Given the description of an element on the screen output the (x, y) to click on. 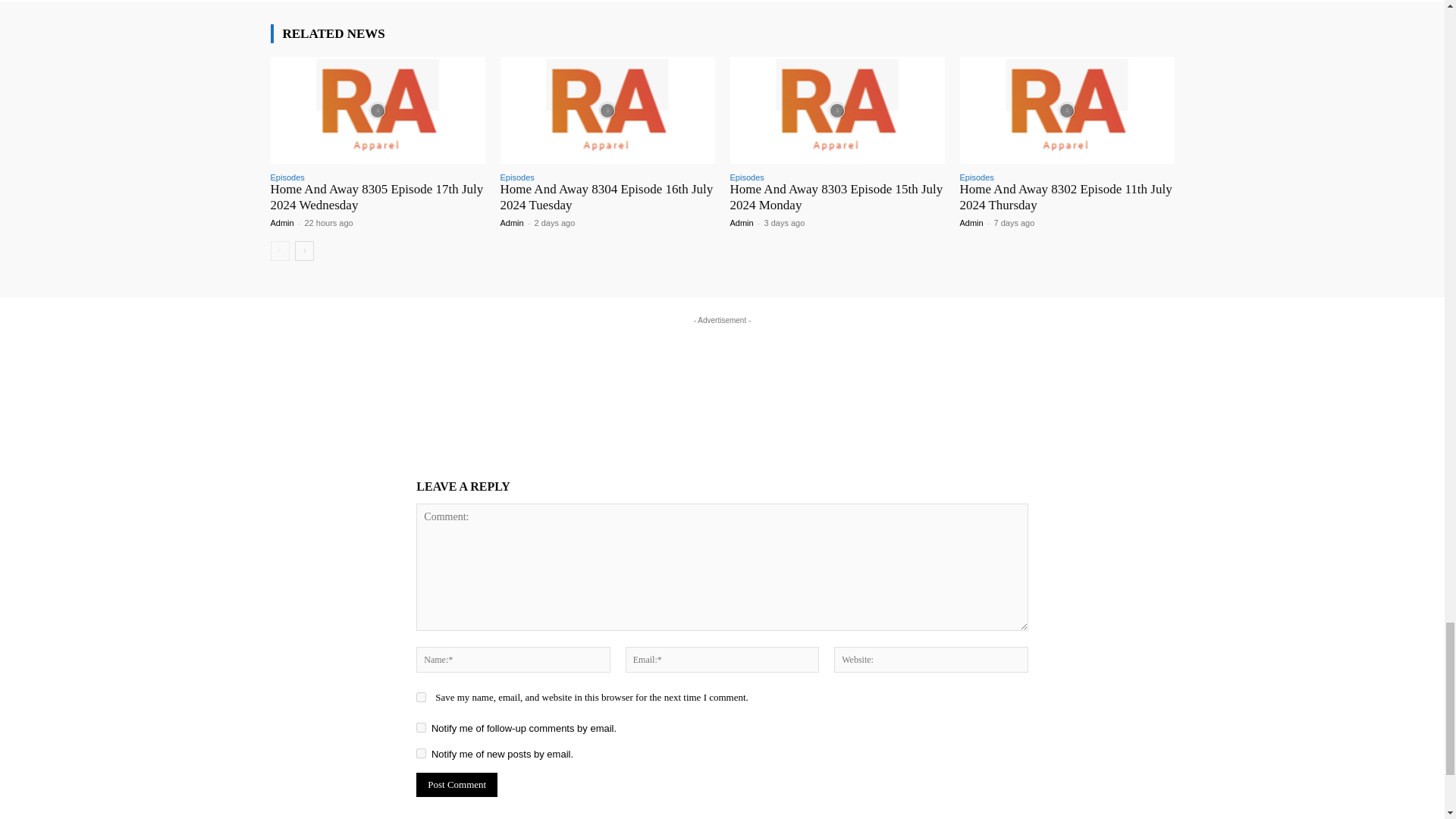
Post Comment (456, 784)
subscribe (421, 753)
yes (421, 696)
subscribe (421, 727)
